Given the description of an element on the screen output the (x, y) to click on. 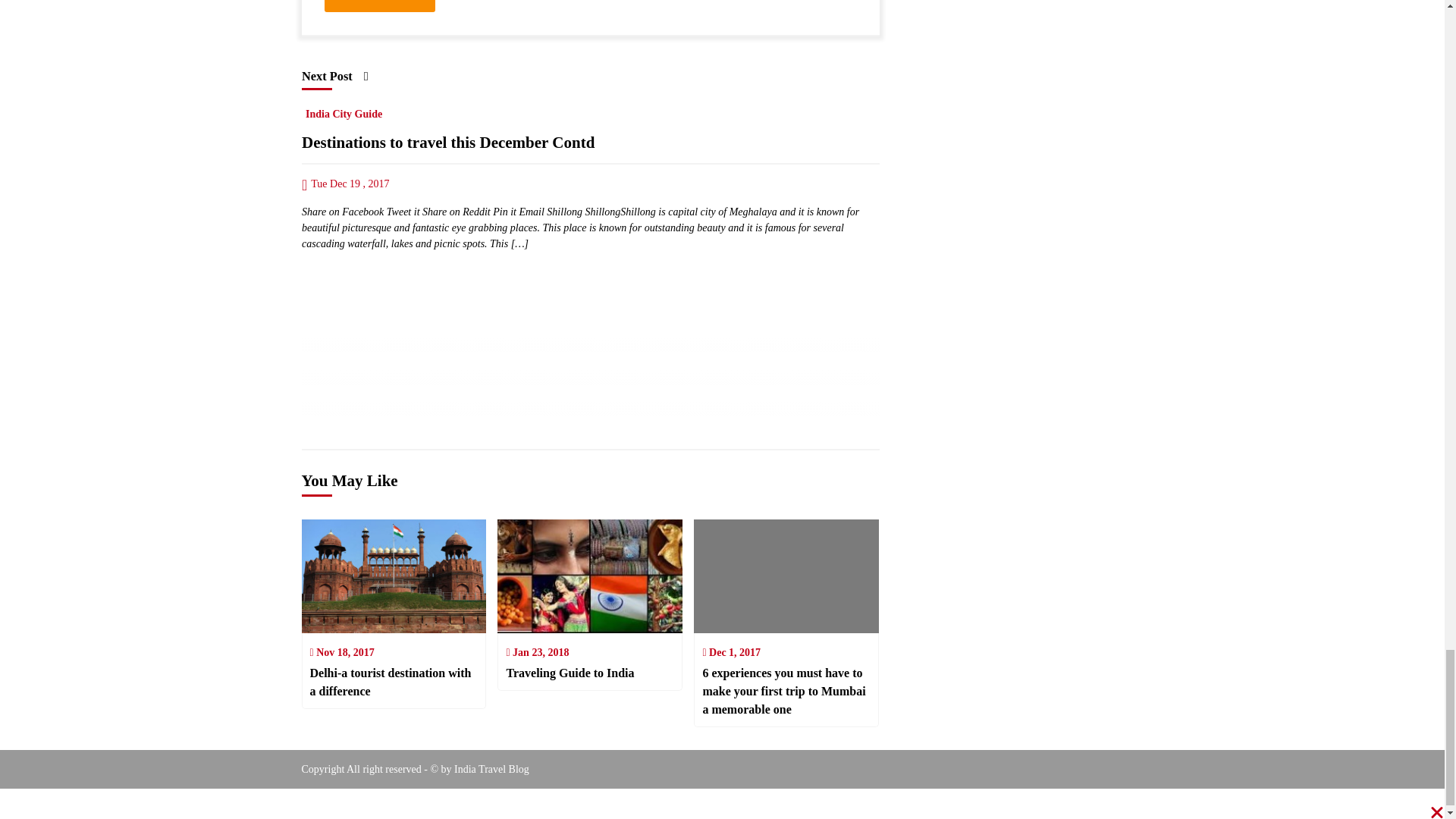
Post Comment (379, 6)
